Given the description of an element on the screen output the (x, y) to click on. 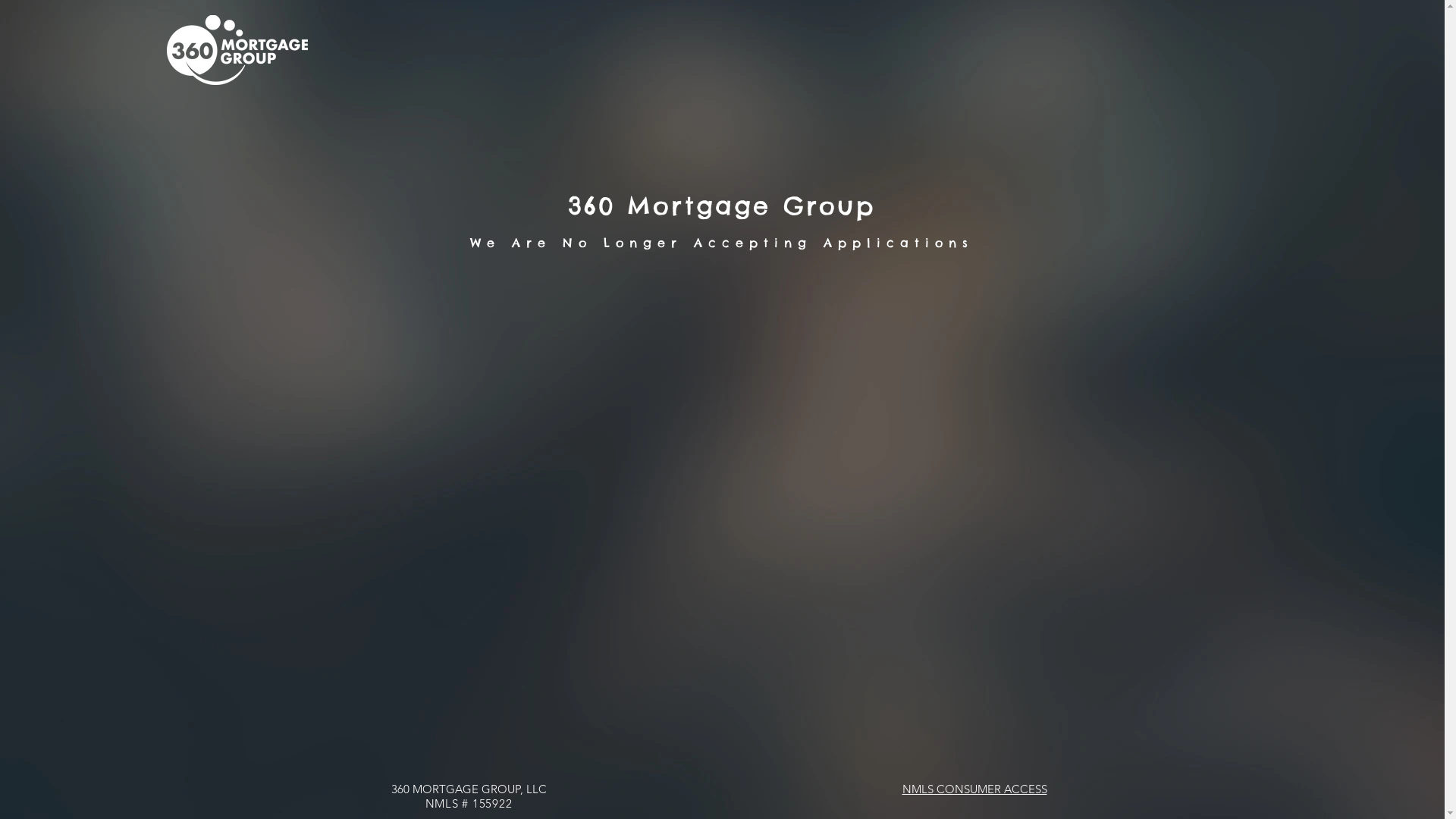
NMLS CONSUMER ACCESS Element type: text (974, 788)
360-whitelogo-transparent back.png Element type: hover (236, 49)
